Given the description of an element on the screen output the (x, y) to click on. 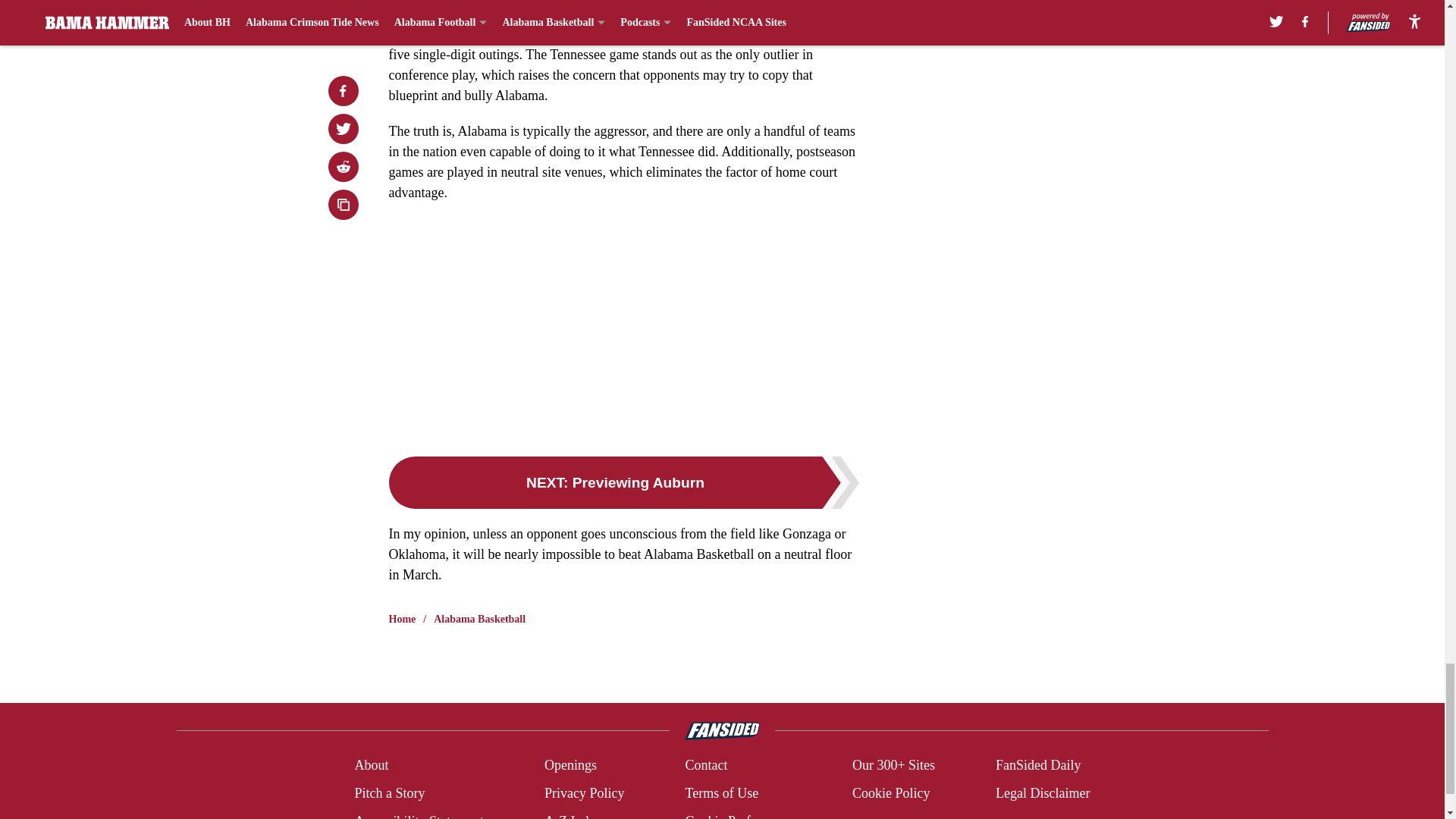
Alabama Basketball (479, 619)
About (370, 765)
NEXT: Previewing Auburn (623, 482)
Openings (570, 765)
Home (401, 619)
